Given the description of an element on the screen output the (x, y) to click on. 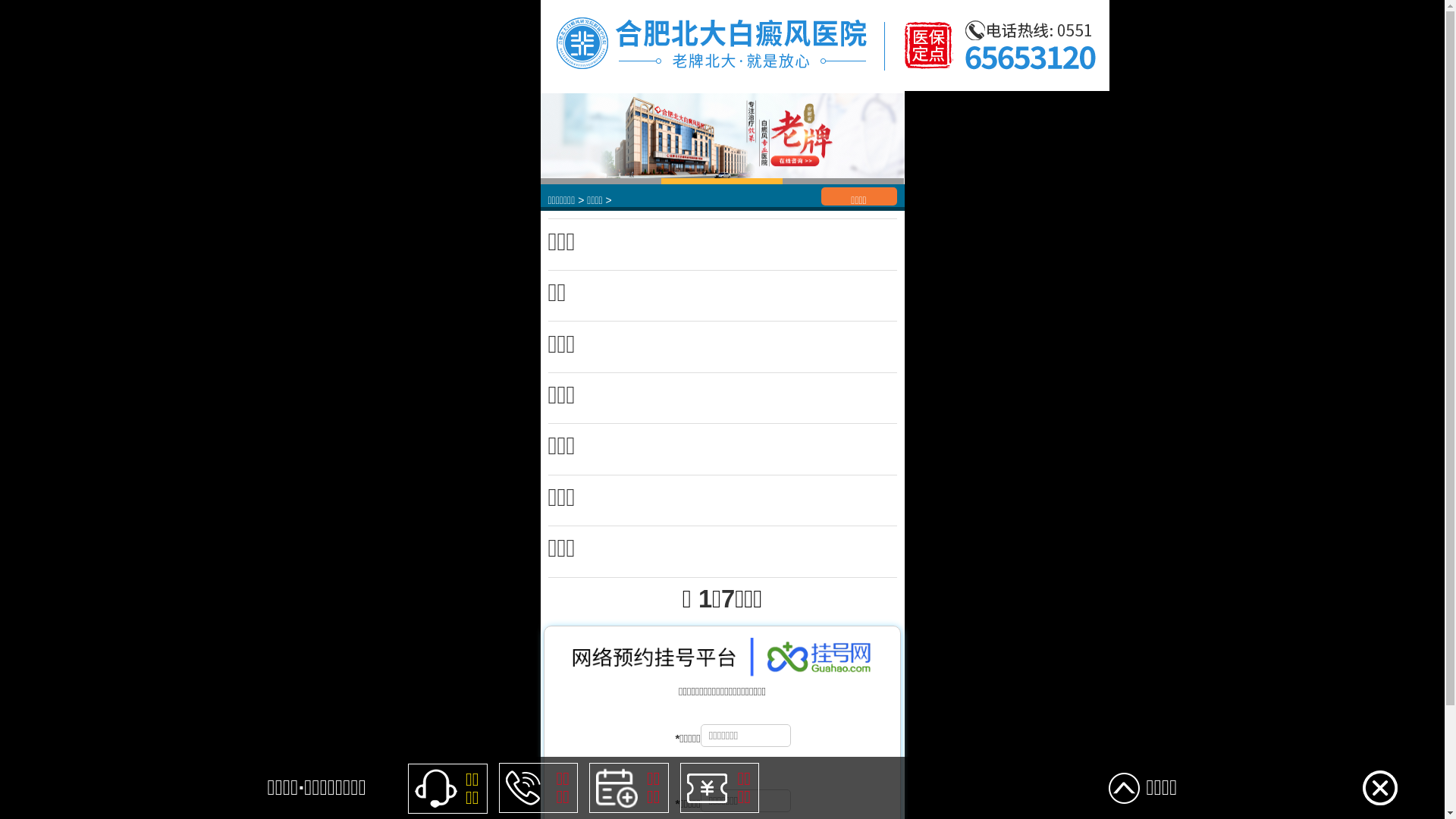
logo Element type: hover (823, 45)
